Given the description of an element on the screen output the (x, y) to click on. 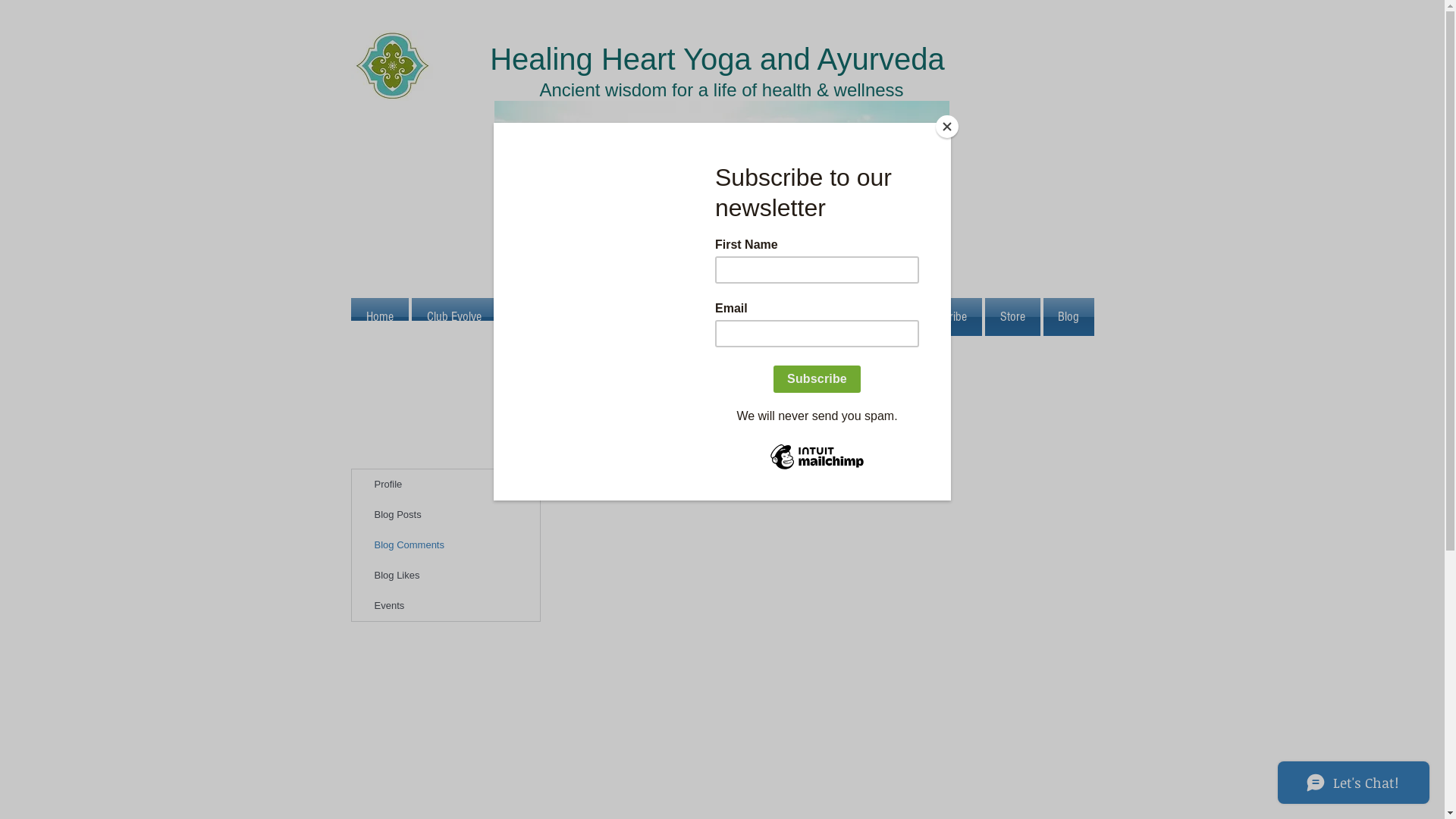
Blog Posts Element type: text (445, 514)
Blog Likes Element type: text (445, 575)
Events Element type: text (445, 605)
Services & Bookings Element type: text (562, 316)
Contact / Subscribe Element type: text (919, 316)
Store Element type: text (1011, 316)
Blog Element type: text (1067, 316)
Home Element type: text (379, 316)
Butterfly Element type: hover (721, 194)
Plans & Pricing Element type: text (804, 316)
Club Evolve Element type: text (453, 316)
Blog Comments Element type: text (445, 545)
Profile Element type: text (445, 484)
Workshops/Events Element type: text (691, 316)
Refresh this page Element type: text (792, 475)
